Given the description of an element on the screen output the (x, y) to click on. 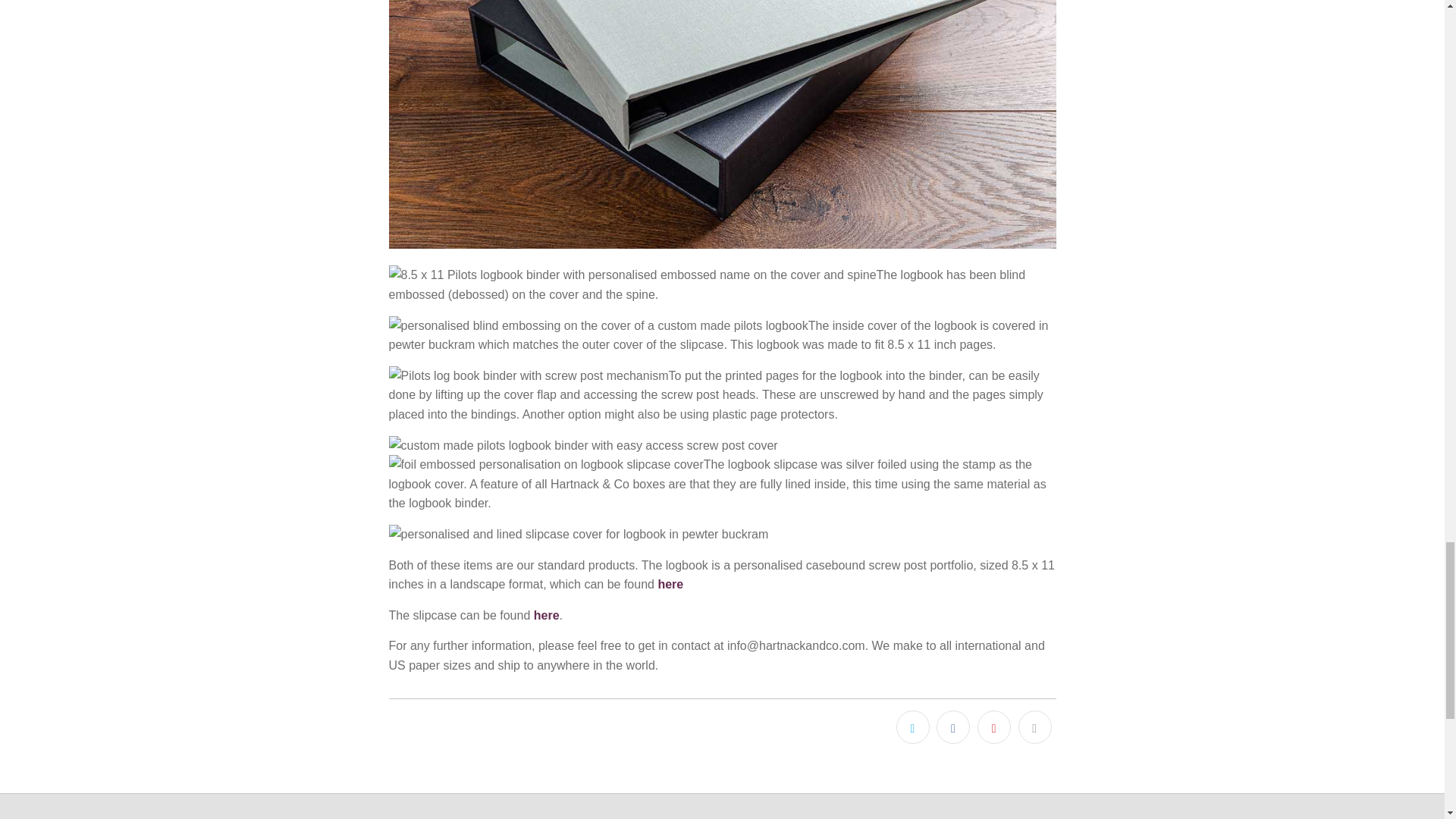
Share this on Twitter (913, 726)
binder slipcase (546, 615)
personalised casebound binder for pilot logbook (670, 584)
